Given the description of an element on the screen output the (x, y) to click on. 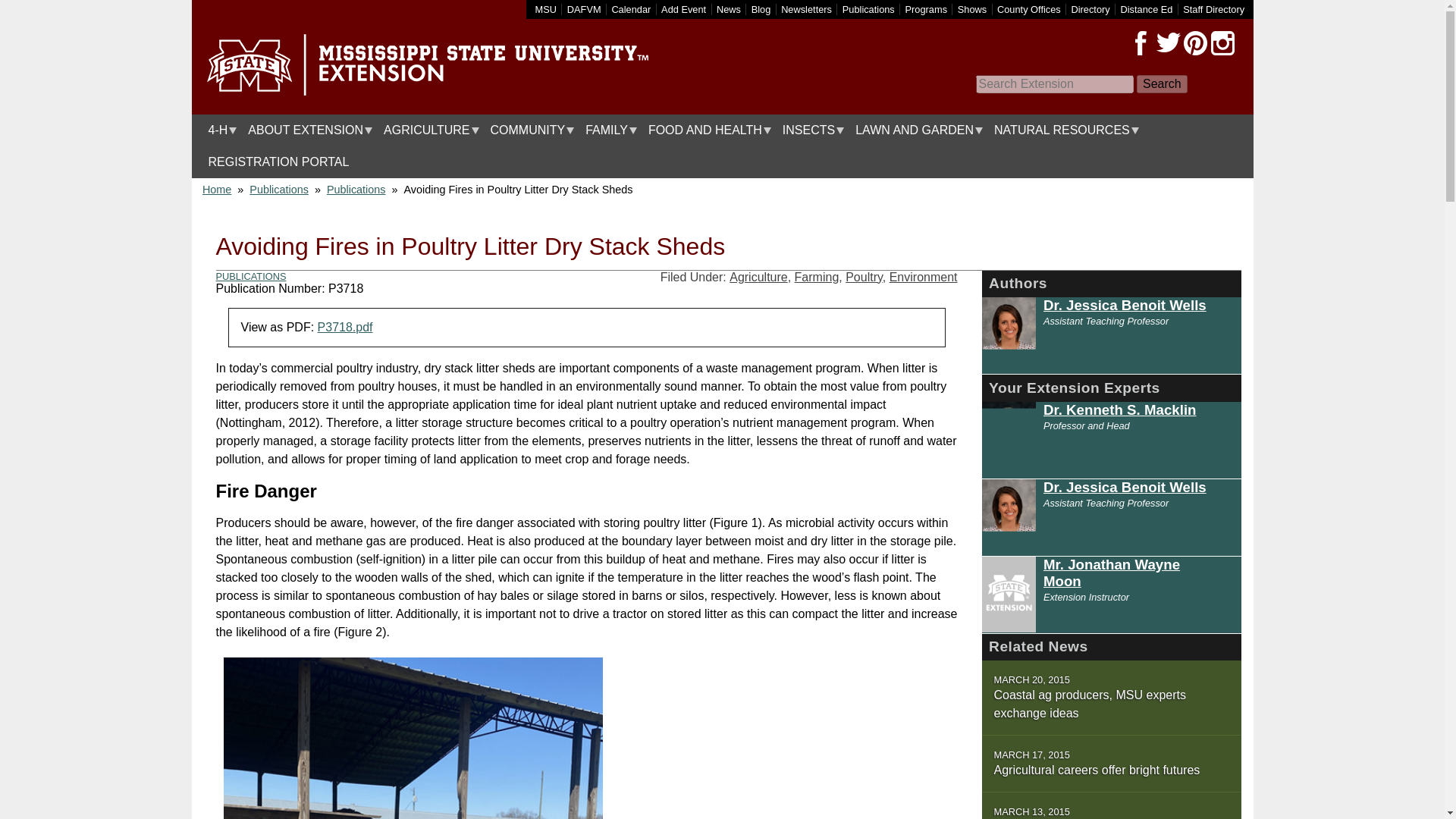
MSU (545, 9)
Twitter (1167, 43)
Link to Mississippi State University (545, 9)
County Offices (1029, 9)
Calendar (630, 9)
Search (1162, 84)
4-H (218, 130)
News (728, 9)
